Given the description of an element on the screen output the (x, y) to click on. 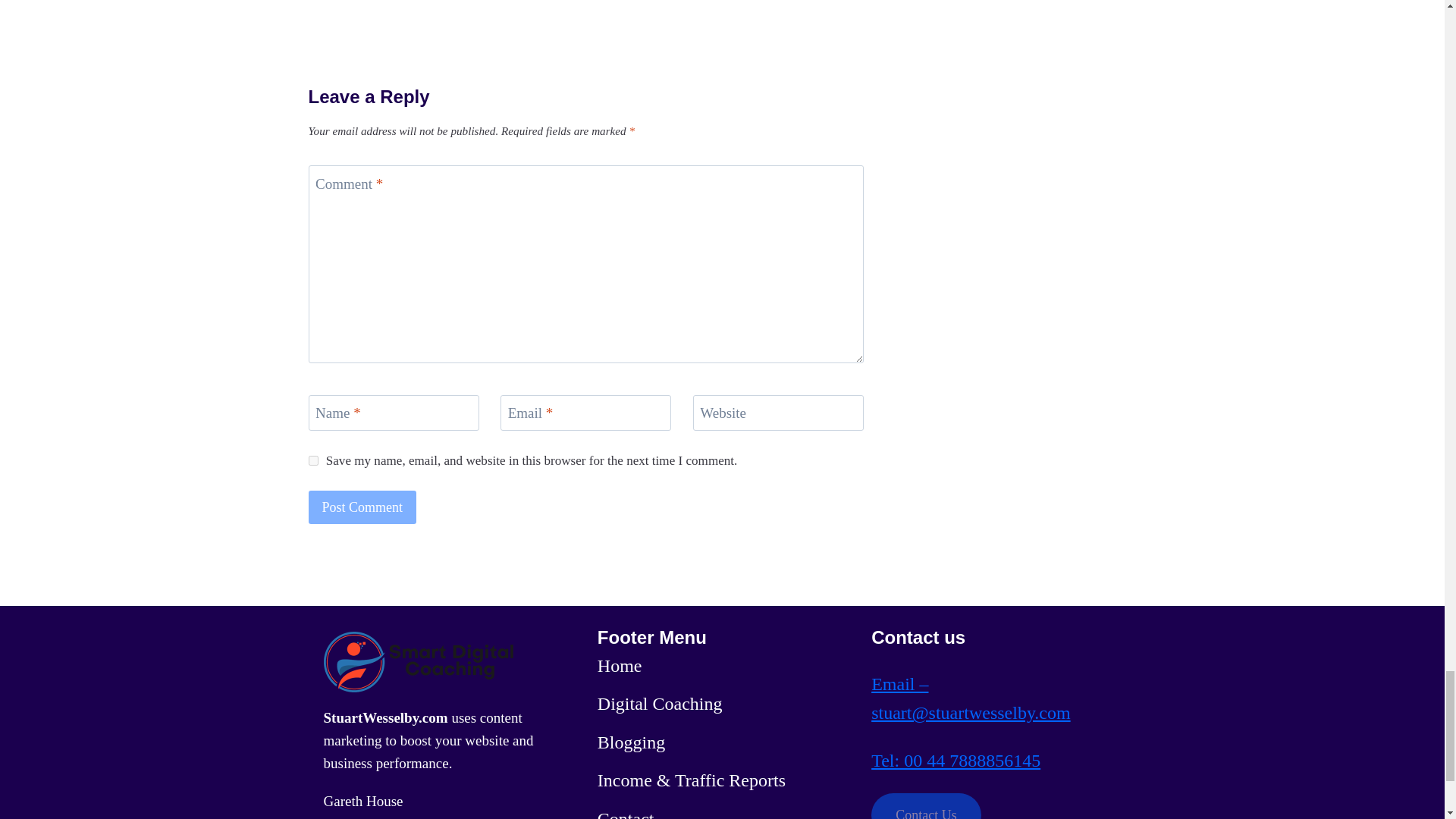
Digital Coaching (659, 703)
yes (312, 460)
Blogging (630, 742)
Post Comment (361, 506)
Contact (624, 811)
Post Comment (361, 506)
Home (619, 665)
